Given the description of an element on the screen output the (x, y) to click on. 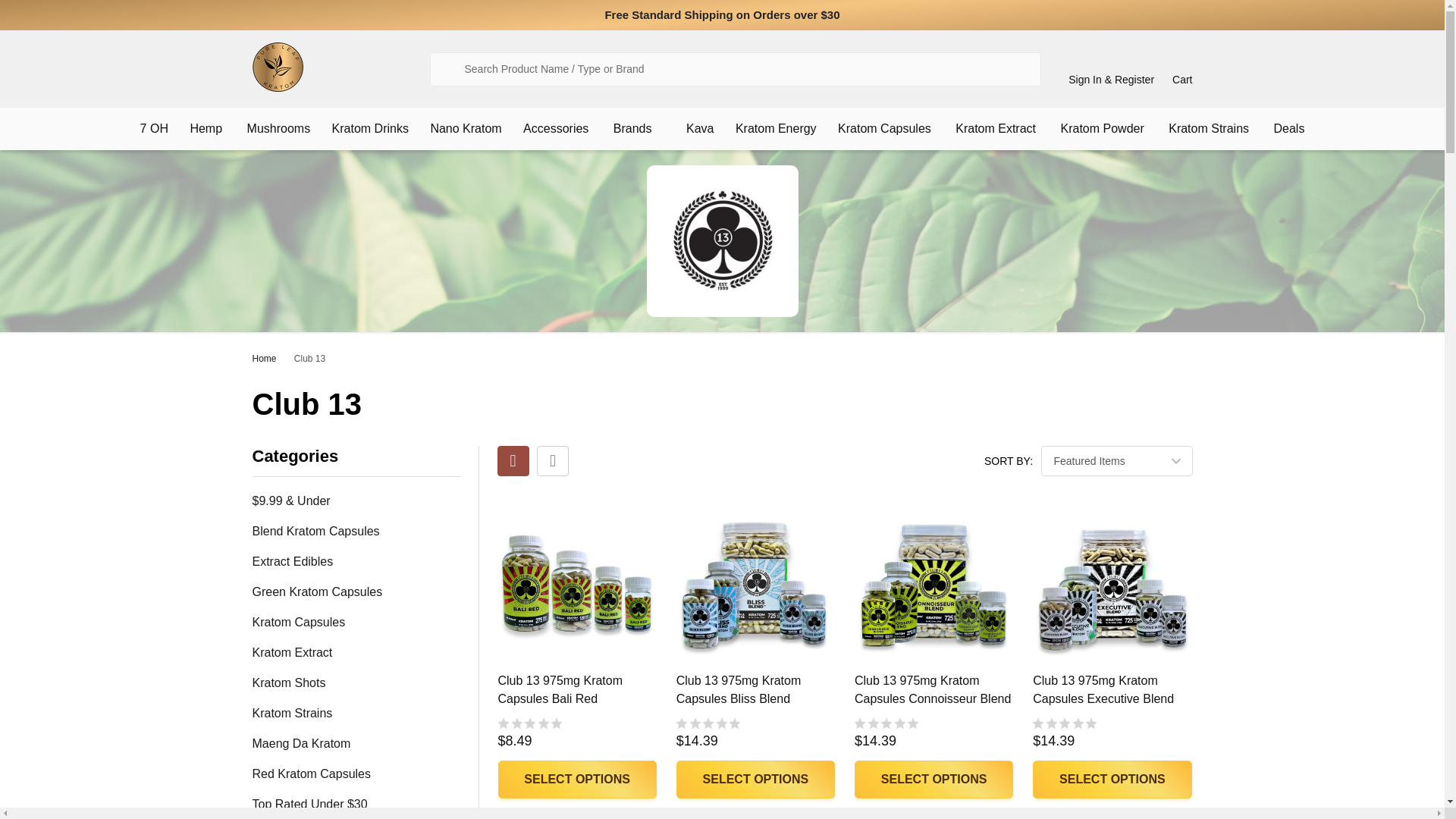
Club 13 (721, 240)
Nano Kratom (465, 128)
Blend Kratom Capsules (355, 530)
7 OH (154, 128)
Extract Edibles (355, 561)
Kratom Capsules (355, 621)
Kratom Drinks (370, 128)
Mushrooms (279, 128)
Hemp (202, 128)
Accessories (552, 128)
Green Kratom Capsules (355, 591)
Brands (633, 128)
Pure Leaf Kratom (276, 66)
